Given the description of an element on the screen output the (x, y) to click on. 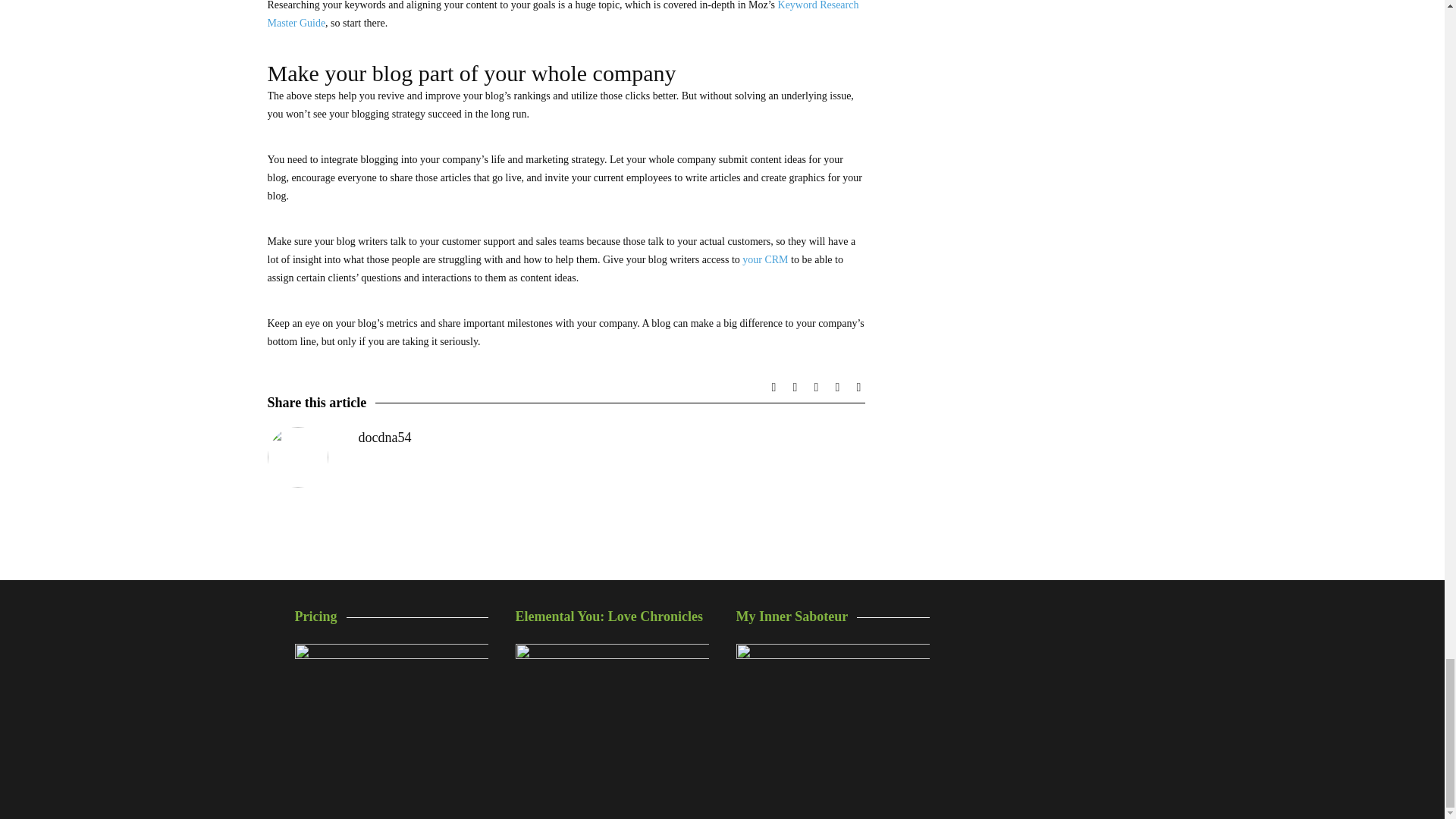
Elemental You: Love Chronicles (612, 717)
your CRM (764, 259)
Keyword Research Master Guide (562, 14)
Pricing (390, 708)
